Given the description of an element on the screen output the (x, y) to click on. 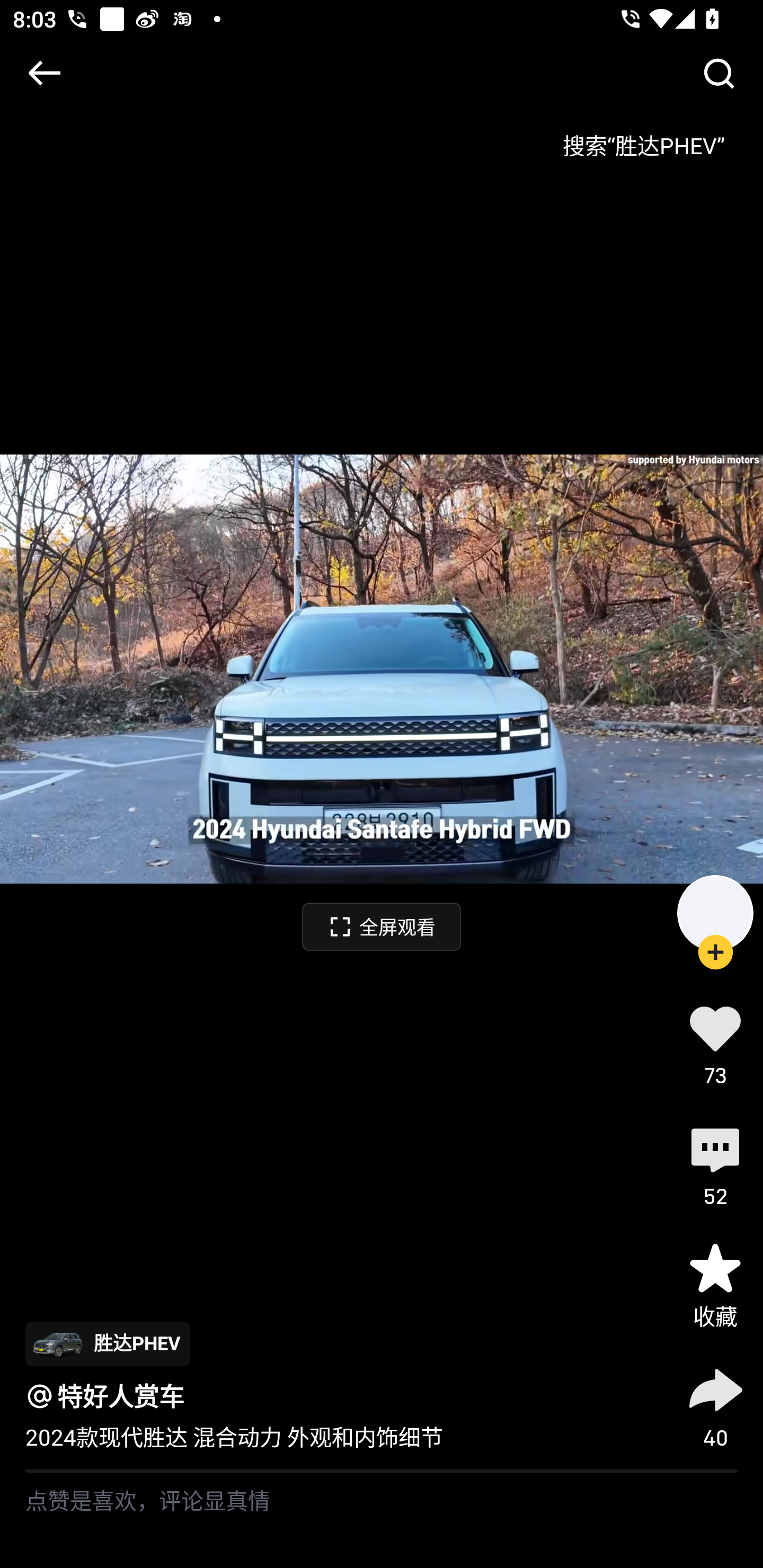
 (44, 72)
 (718, 72)
搜索“胜达PHEV” (643, 139)
 全屏观看 (381, 926)
52 (715, 1164)
收藏 (715, 1284)
胜达PHEV (107, 1343)
40 (715, 1405)
特好人赏车 (120, 1396)
2024款现代胜达 混合动力 外观和内饰细节 (234, 1437)
点赞是喜欢，评论显真情 (381, 1520)
